Given the description of an element on the screen output the (x, y) to click on. 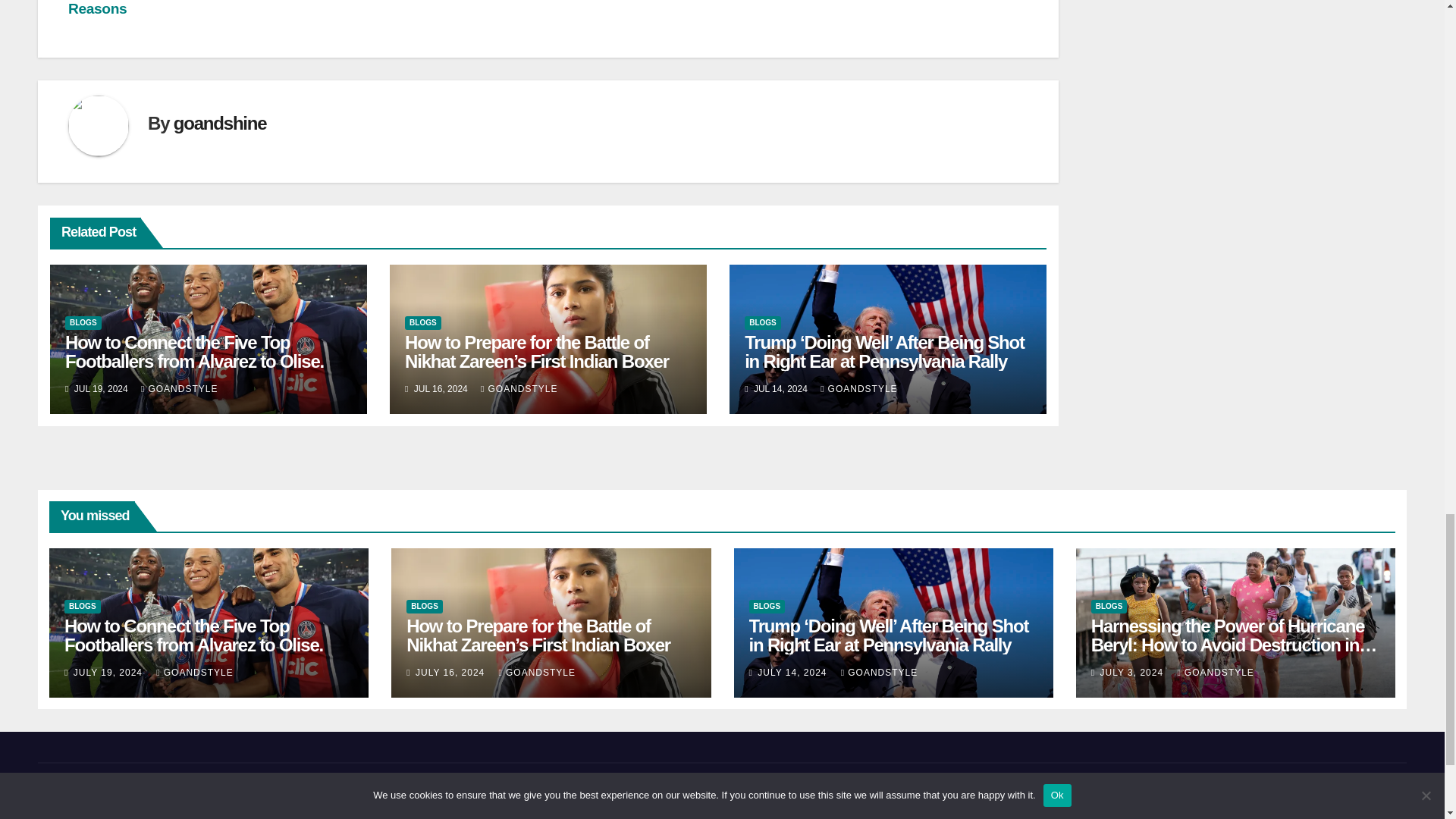
goandshine (219, 123)
BLOGS (83, 323)
GOANDSTYLE (518, 388)
BLOGS (422, 323)
BLOGS (762, 323)
GOANDSTYLE (858, 388)
GOANDSTYLE (178, 388)
